Given the description of an element on the screen output the (x, y) to click on. 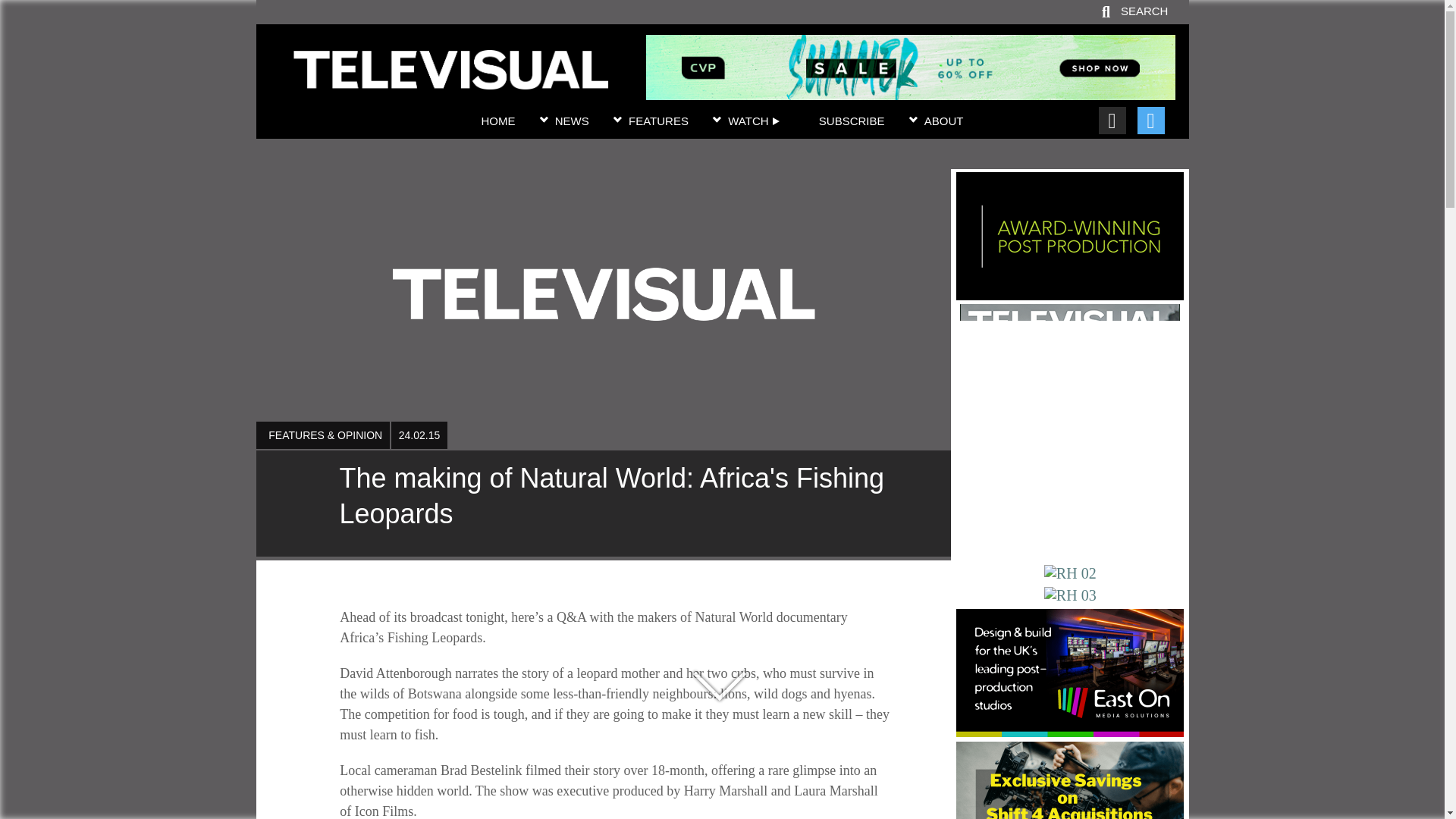
24.02.15 (418, 434)
FEATURES (658, 121)
SUBSCRIBE (851, 121)
WATCH (753, 121)
HOME (497, 121)
The making of Natural World: Africa's Fishing Leopards (603, 503)
ABOUT (943, 121)
NEWS (571, 121)
